Given the description of an element on the screen output the (x, y) to click on. 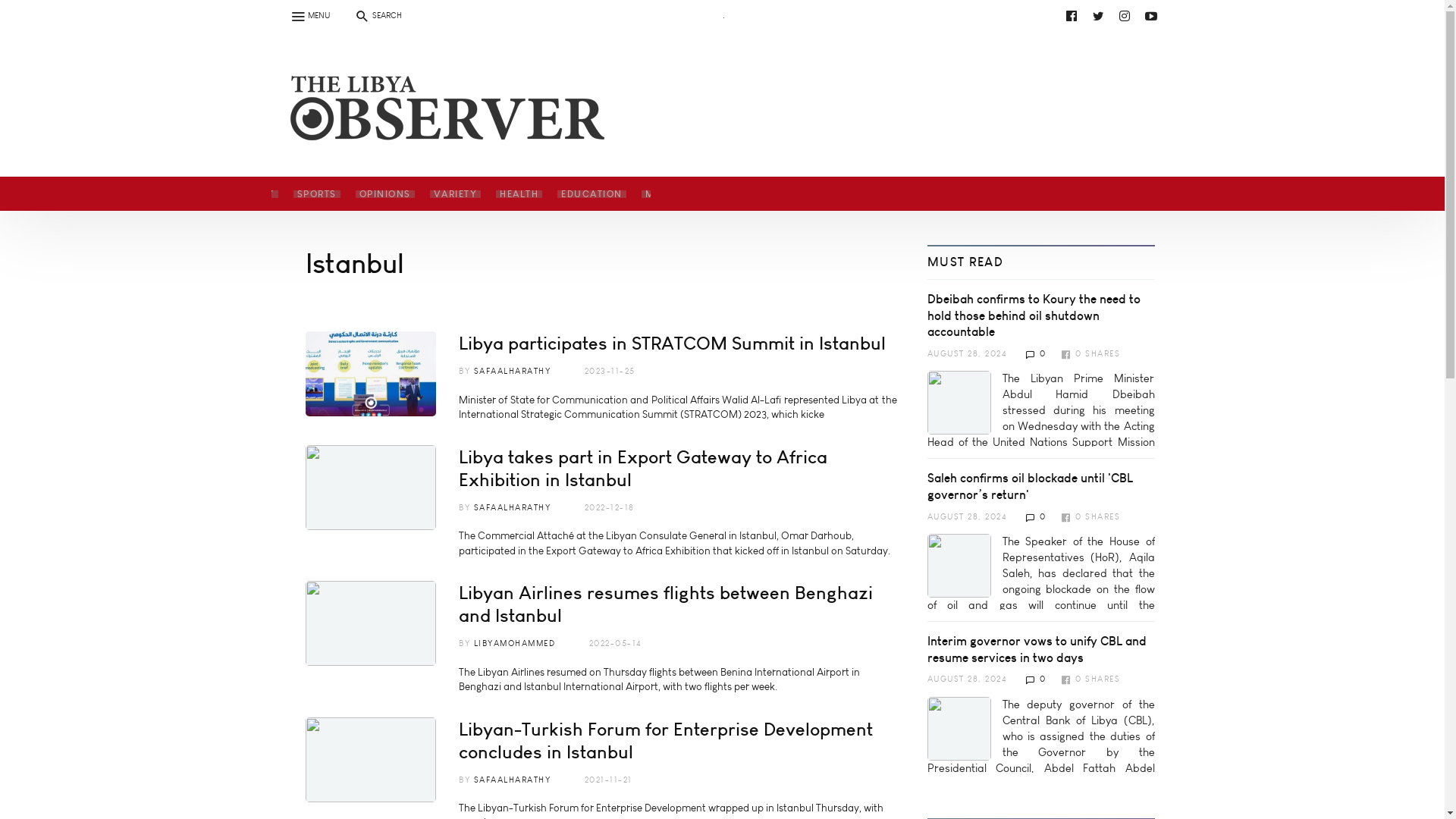
MENU (309, 15)
VARIETY (454, 193)
youtube (736, 14)
ECONOMY (246, 193)
youtube (449, 52)
View user profile. (511, 370)
Search (20, 9)
EDUCATION (591, 193)
Home (441, 126)
